Given the description of an element on the screen output the (x, y) to click on. 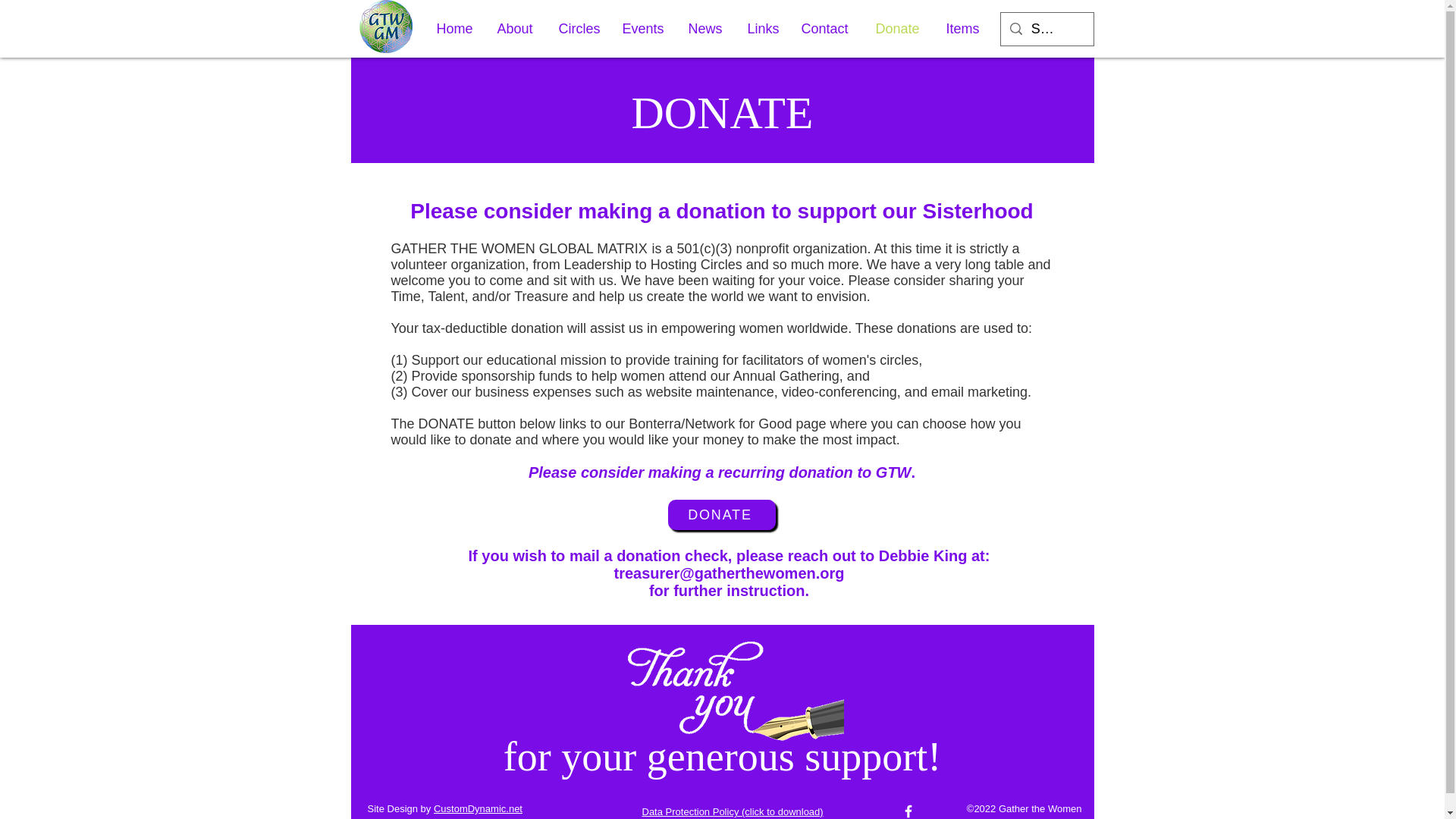
Items (963, 28)
GTWGM-newlogo-sml.png (386, 26)
Image - Pen Writing Thank You (729, 694)
About (515, 28)
Home (454, 28)
Circles (579, 28)
News (706, 28)
Contact (827, 28)
Links (762, 28)
DONATE (720, 514)
CustomDynamic.net (477, 808)
Events (644, 28)
Donate (899, 28)
